Given the description of an element on the screen output the (x, y) to click on. 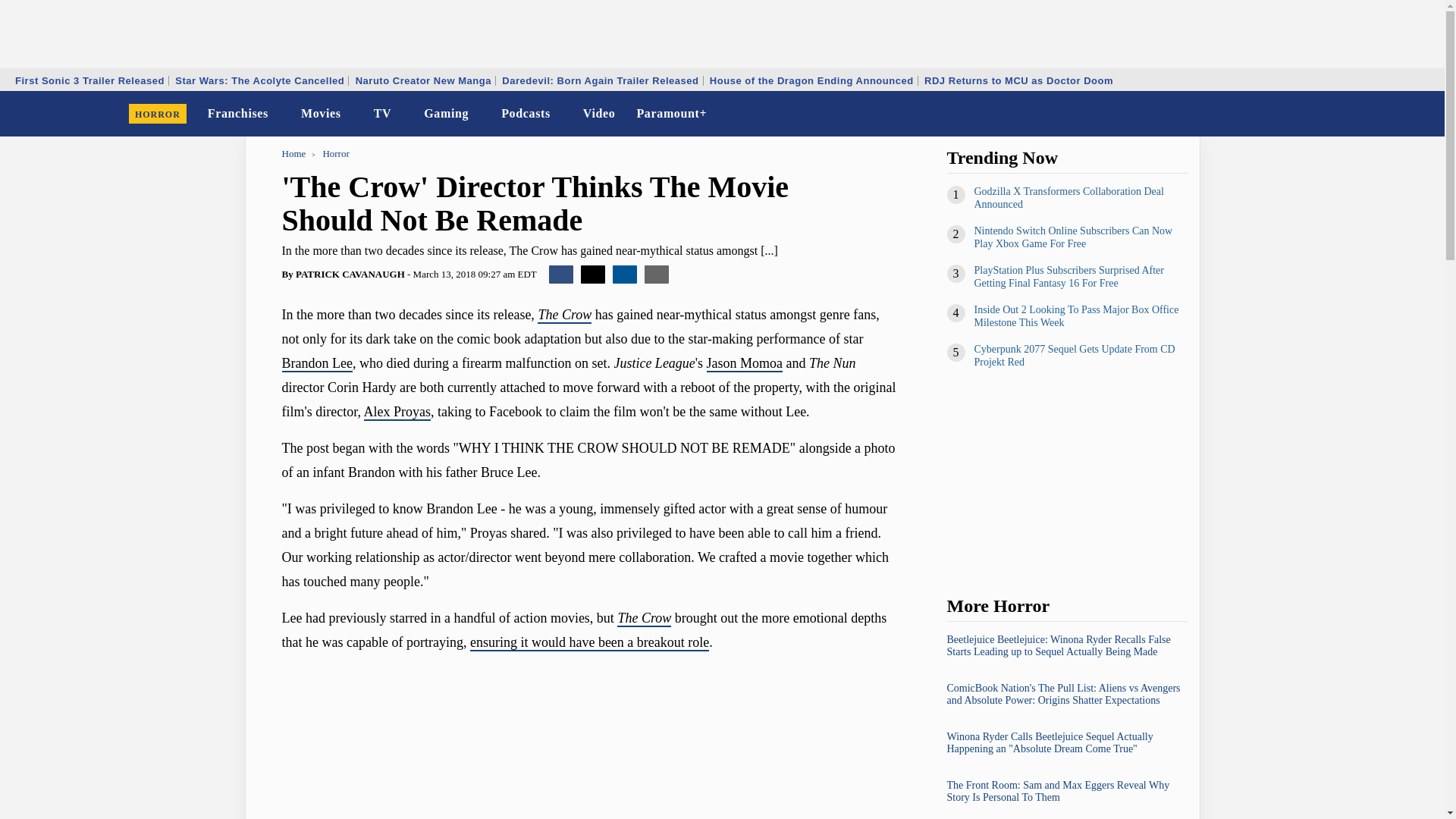
Star Wars: The Acolyte Cancelled (259, 80)
Movies (321, 113)
House of the Dragon Ending Announced (811, 80)
Daredevil: Born Again Trailer Released (599, 80)
RDJ Returns to MCU as Doctor Doom (1018, 80)
First Sonic 3 Trailer Released (89, 80)
Search (1422, 114)
Dark Mode (1394, 113)
Naruto Creator New Manga (423, 80)
Gaming (445, 113)
